Given the description of an element on the screen output the (x, y) to click on. 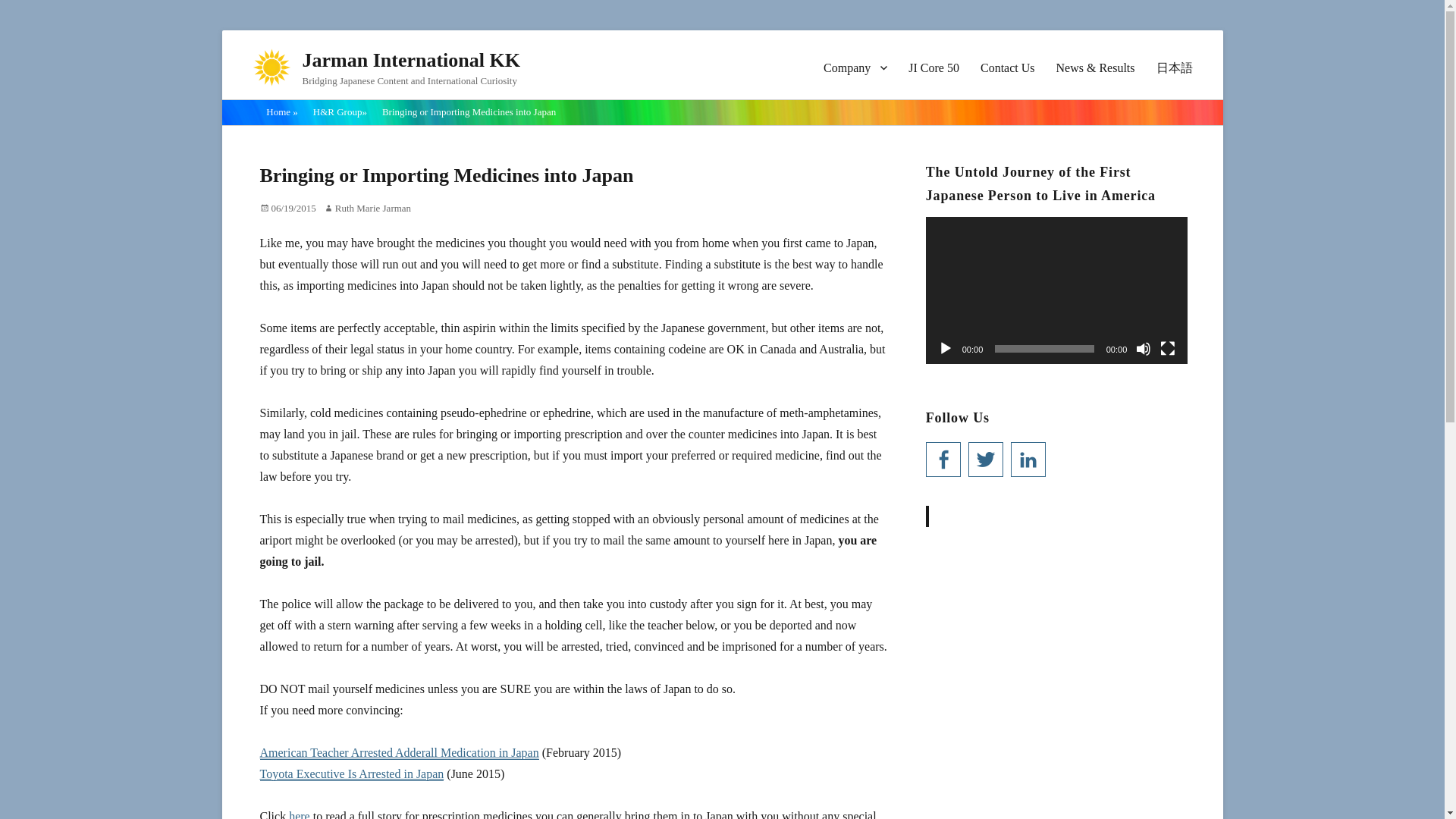
Facebook (943, 459)
Mute (1143, 348)
Ruth Marie Jarman (366, 207)
JI Core 50 (933, 67)
here (299, 814)
Twitter (985, 459)
Fullscreen (1167, 348)
Contact Us (1007, 67)
Twitter (985, 459)
Company (855, 67)
